Given the description of an element on the screen output the (x, y) to click on. 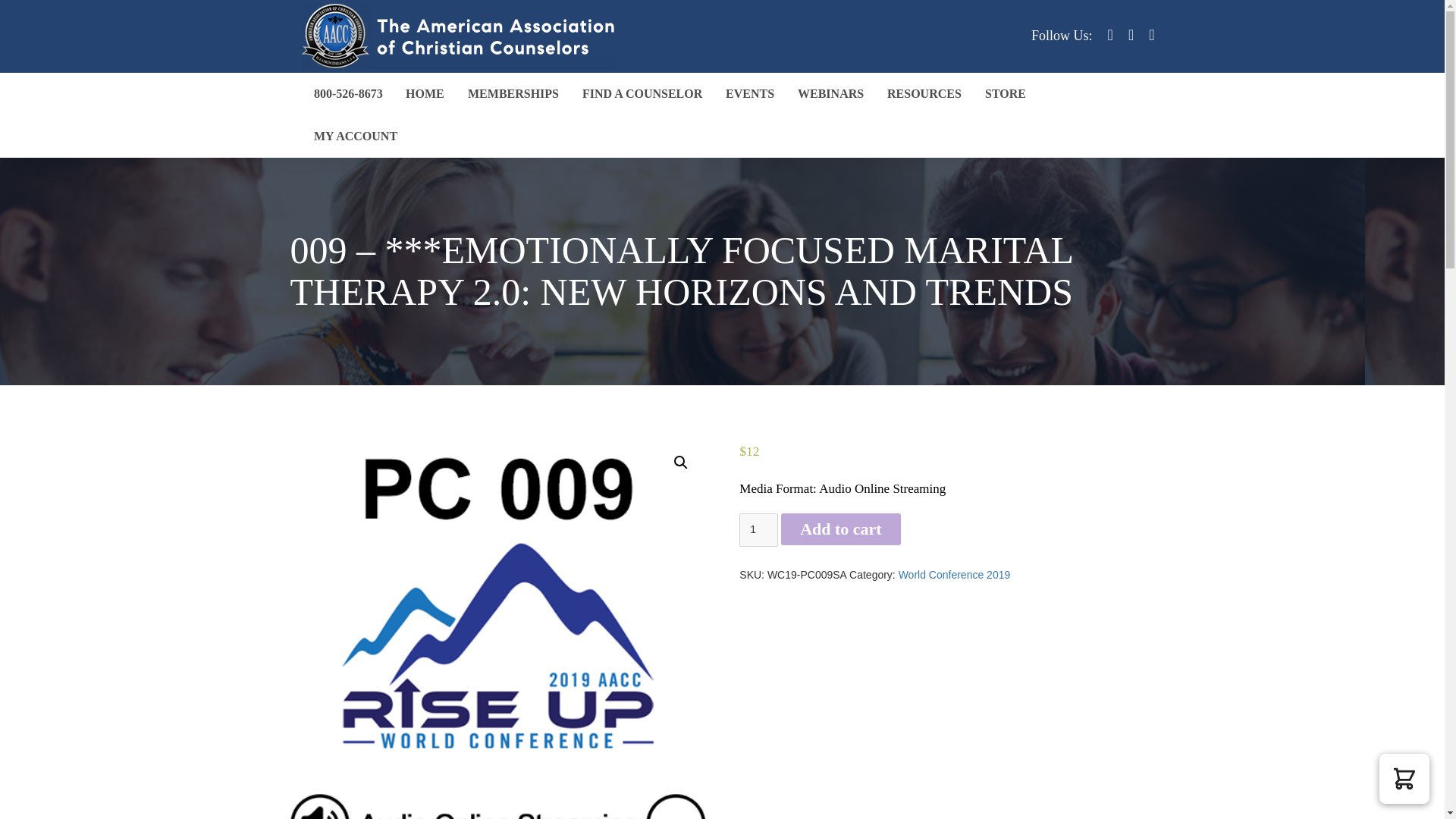
RESOURCES (924, 93)
Events (750, 93)
1 (758, 530)
HOME (424, 93)
Find a Counselor (641, 93)
Webinars (830, 93)
MEMBERSHIPS (513, 93)
MY ACCOUNT (354, 136)
Home (424, 93)
800-526-8673 (347, 93)
